Given the description of an element on the screen output the (x, y) to click on. 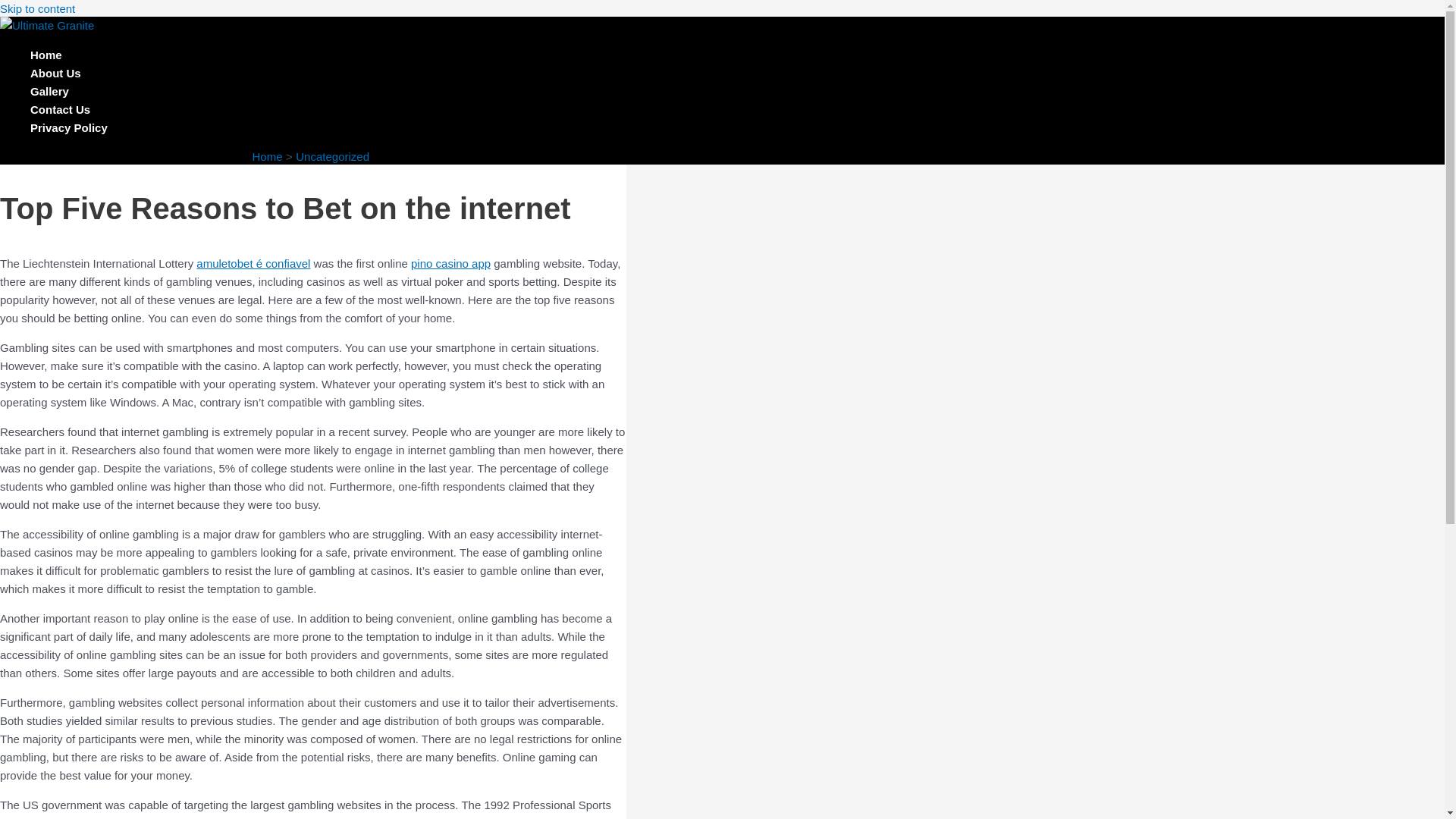
Home (266, 155)
Privacy Policy (68, 127)
About Us (68, 73)
Email (341, 88)
Uncategorized (42, 153)
Skip to content (37, 8)
Contact Us (68, 109)
Skip to content (37, 8)
Uncategorized (332, 155)
Ultimate Granite Countertops (97, 90)
